Given the description of an element on the screen output the (x, y) to click on. 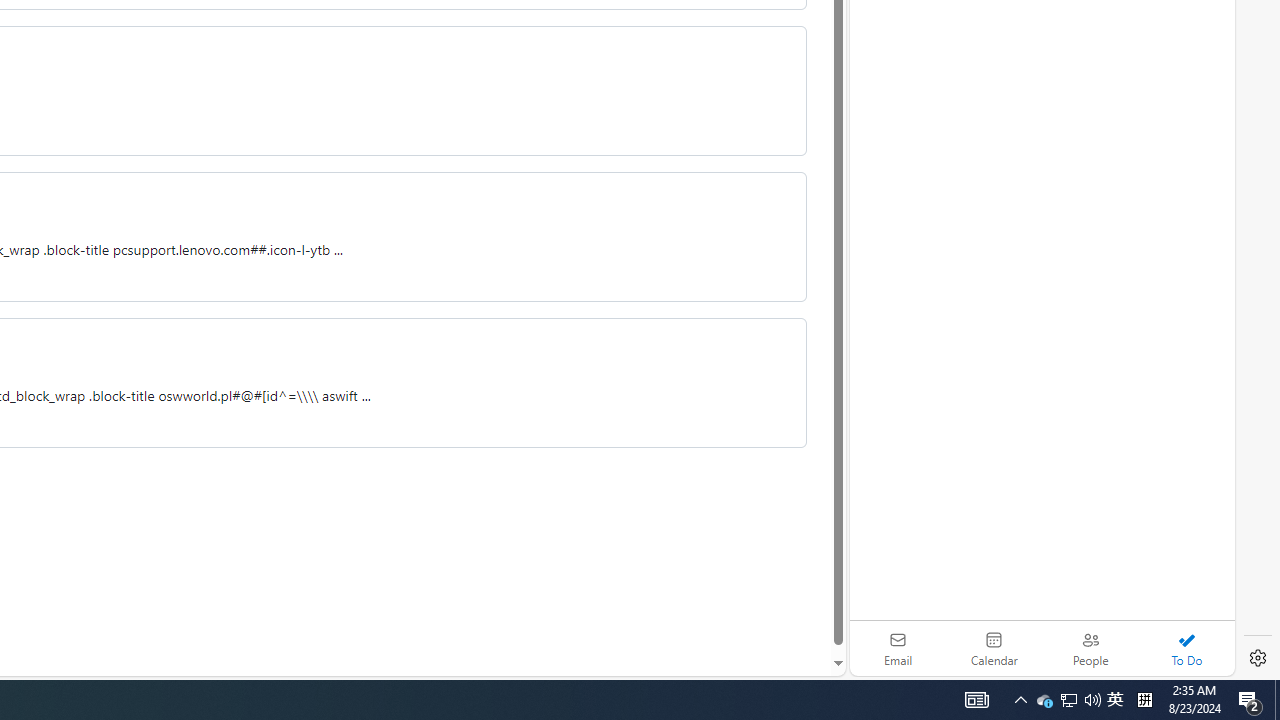
People (1090, 648)
Calendar. Date today is 22 (994, 648)
To Do (1186, 648)
Email (898, 648)
